Given the description of an element on the screen output the (x, y) to click on. 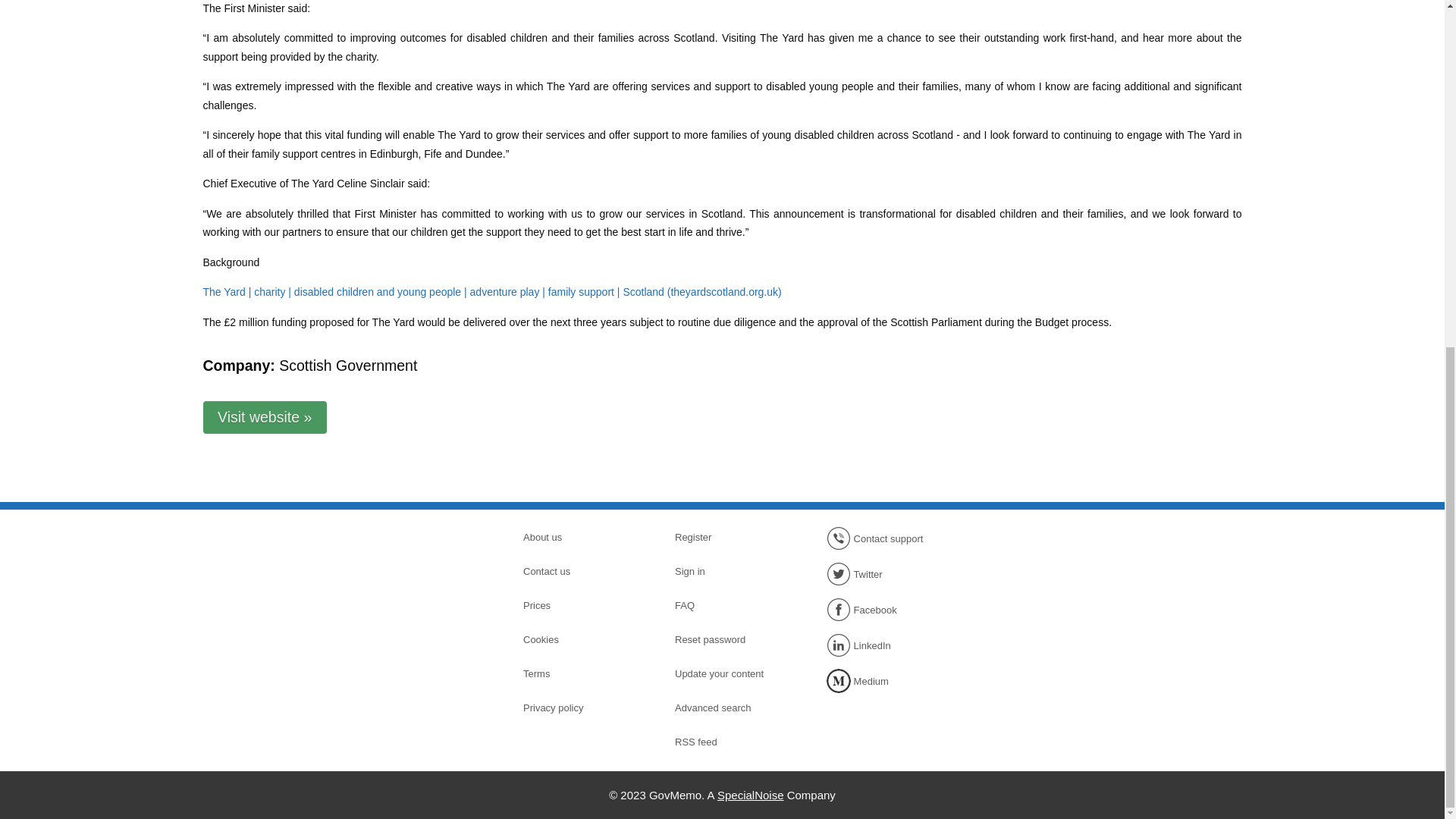
Contact support (880, 538)
FAQ (727, 605)
Twitter (880, 573)
Register (727, 537)
Prices (575, 605)
RSS feed (727, 742)
Sign in (727, 571)
Privacy policy (575, 707)
Facebook (880, 609)
Contact us (575, 571)
